Given the description of an element on the screen output the (x, y) to click on. 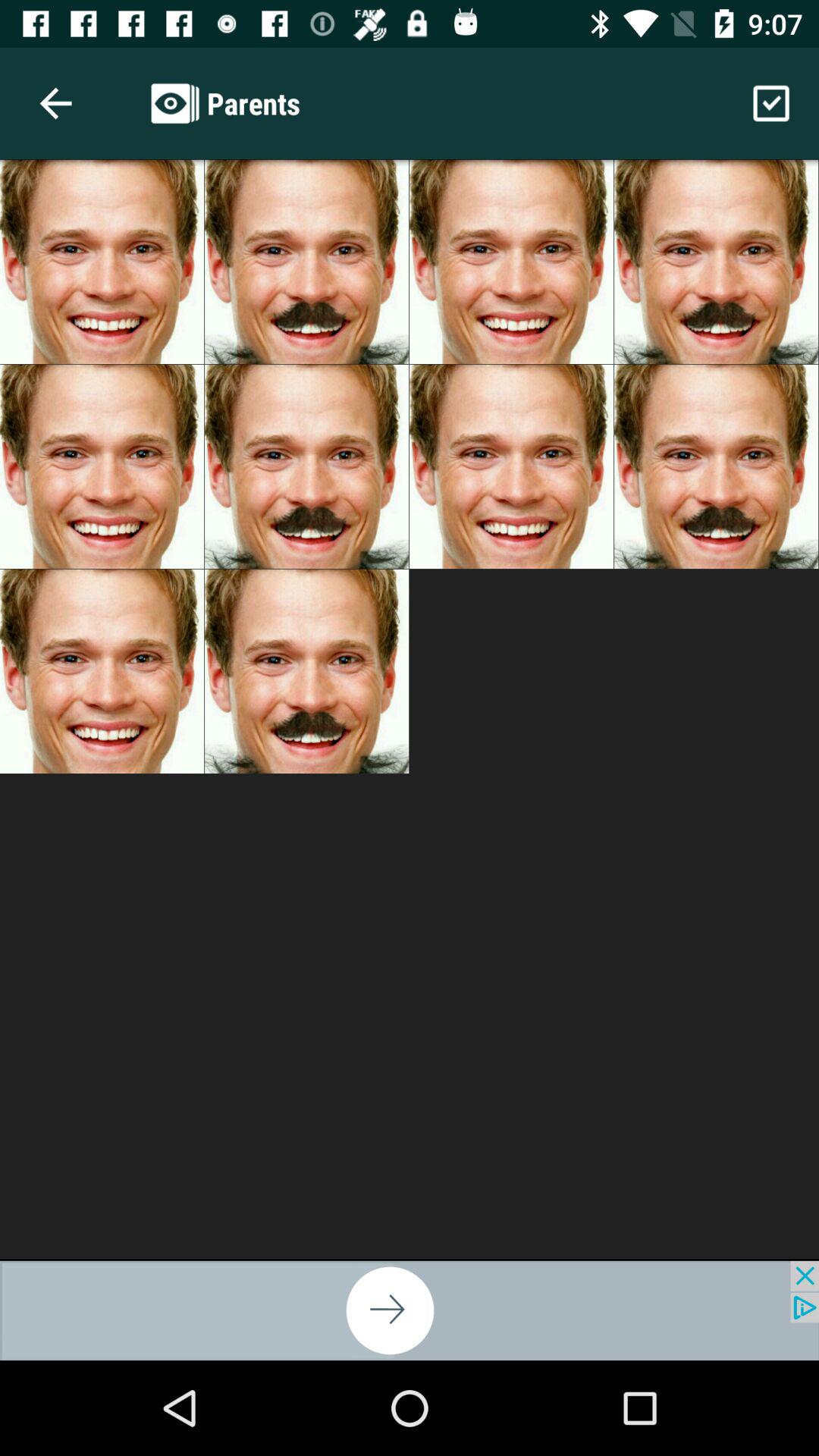
click fourth image from second row (716, 467)
select the image which is second row third image (511, 467)
click on the second image in the second row (306, 467)
select the icon which is at the top right corner (771, 103)
